Given the description of an element on the screen output the (x, y) to click on. 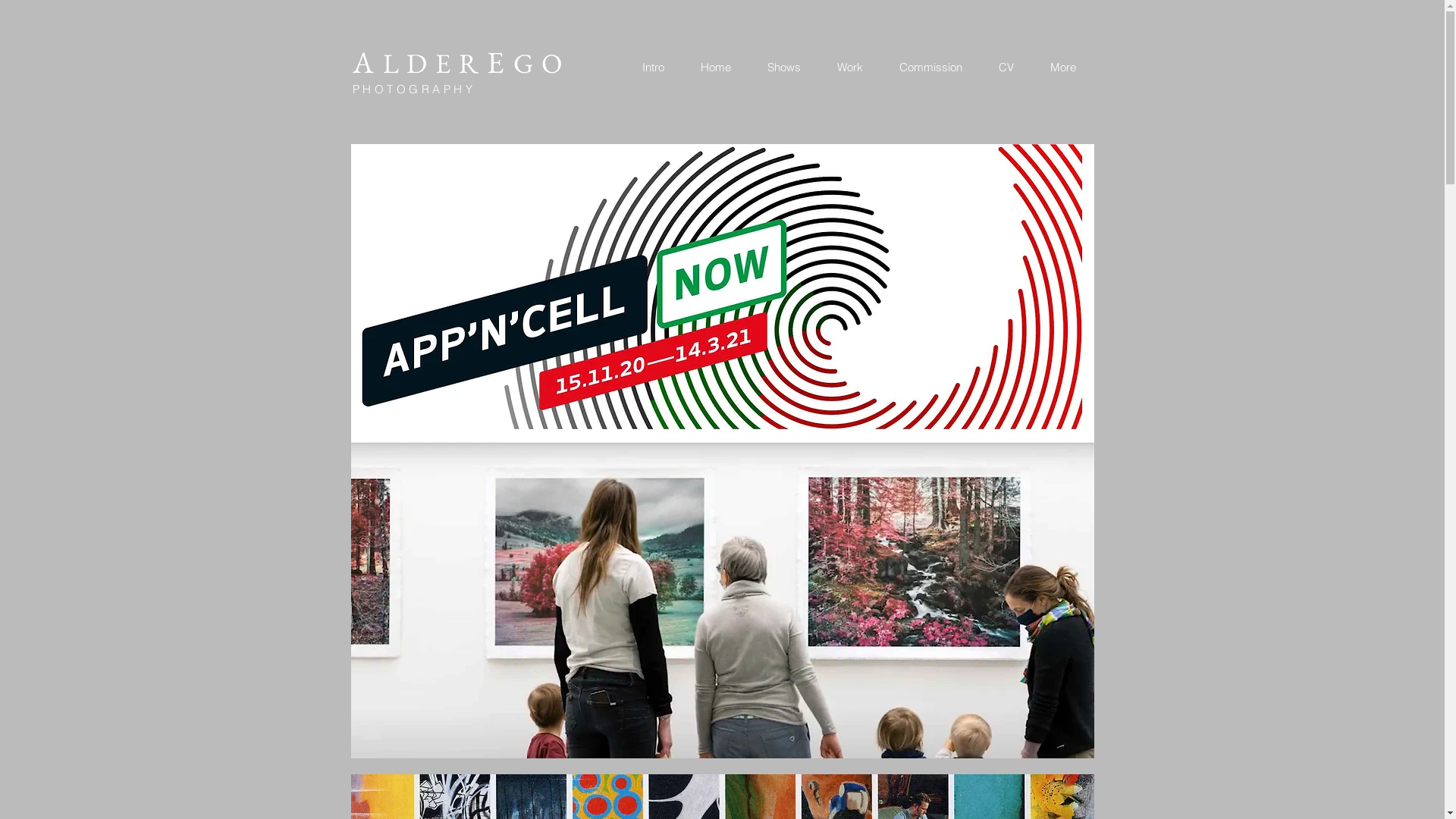
Intro Element type: text (652, 67)
Work Element type: text (850, 67)
Shows Element type: text (784, 67)
Home Element type: text (715, 67)
Commission Element type: text (930, 67)
CV Element type: text (1005, 67)
